Given the description of an element on the screen output the (x, y) to click on. 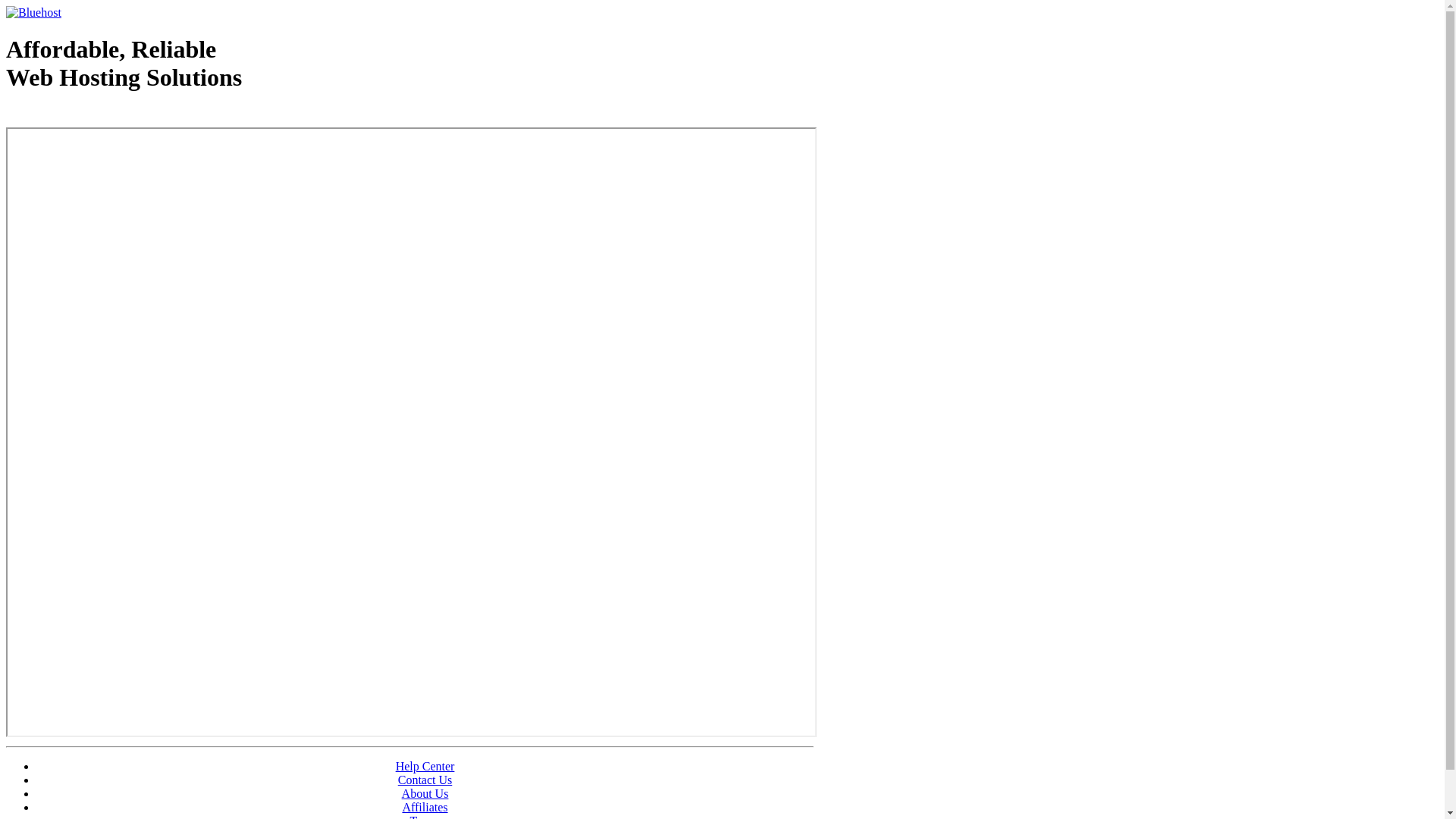
Contact Us Element type: text (425, 779)
Help Center Element type: text (425, 765)
About Us Element type: text (424, 793)
Web Hosting - courtesy of www.bluehost.com Element type: text (94, 115)
Affiliates Element type: text (424, 806)
